Given the description of an element on the screen output the (x, y) to click on. 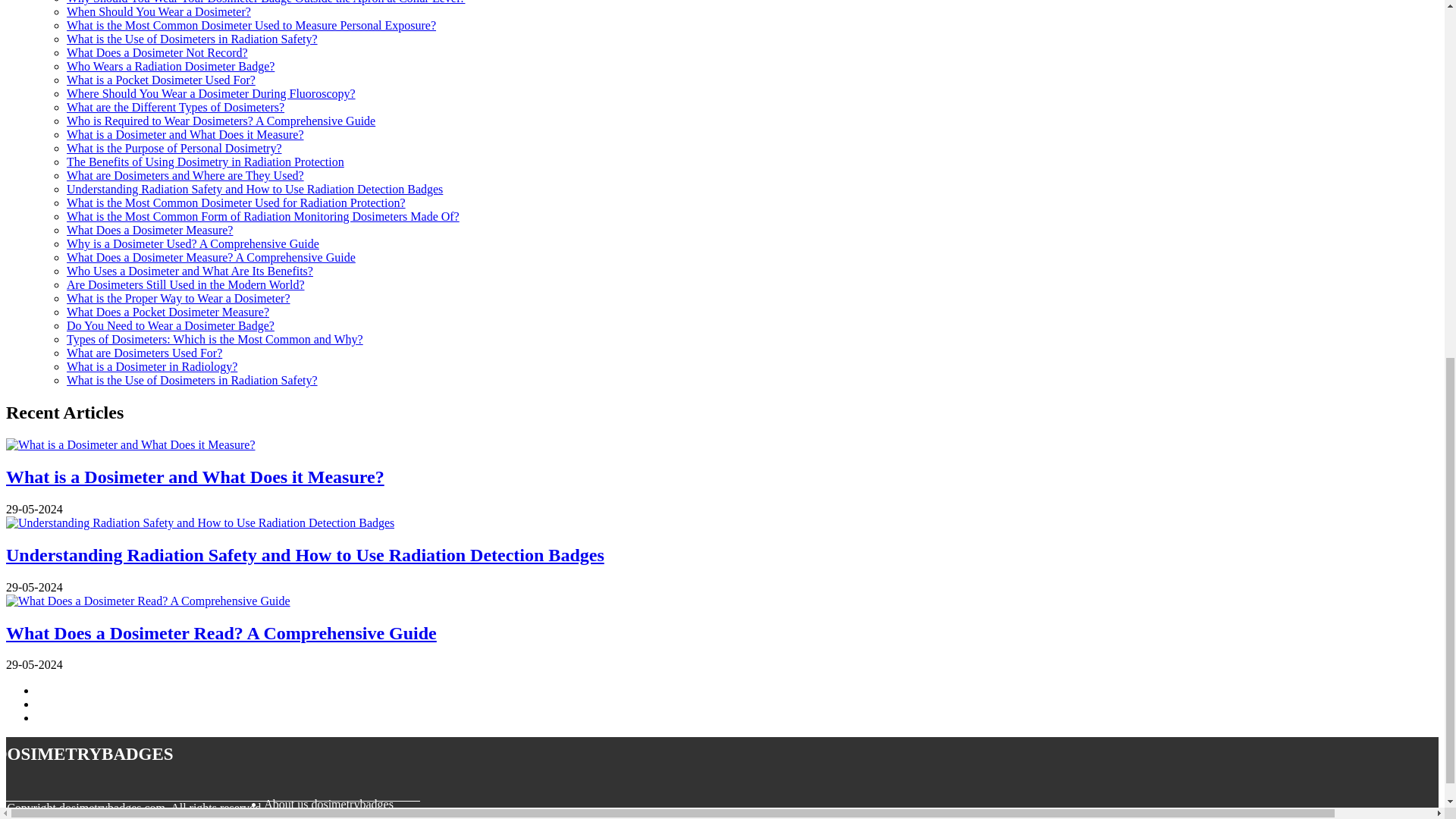
What is a Dosimeter and What Does it Measure? (185, 133)
What are Dosimeters and Where are They Used? (185, 174)
What is the Purpose of Personal Dosimetry? (174, 147)
What is the Use of Dosimeters in Radiation Safety? (191, 38)
What is a Pocket Dosimeter Used For? (161, 79)
Who is Required to Wear Dosimeters? A Comprehensive Guide (220, 120)
Where Should You Wear a Dosimeter During Fluoroscopy? (210, 92)
The Benefits of Using Dosimetry in Radiation Protection (204, 161)
